Given the description of an element on the screen output the (x, y) to click on. 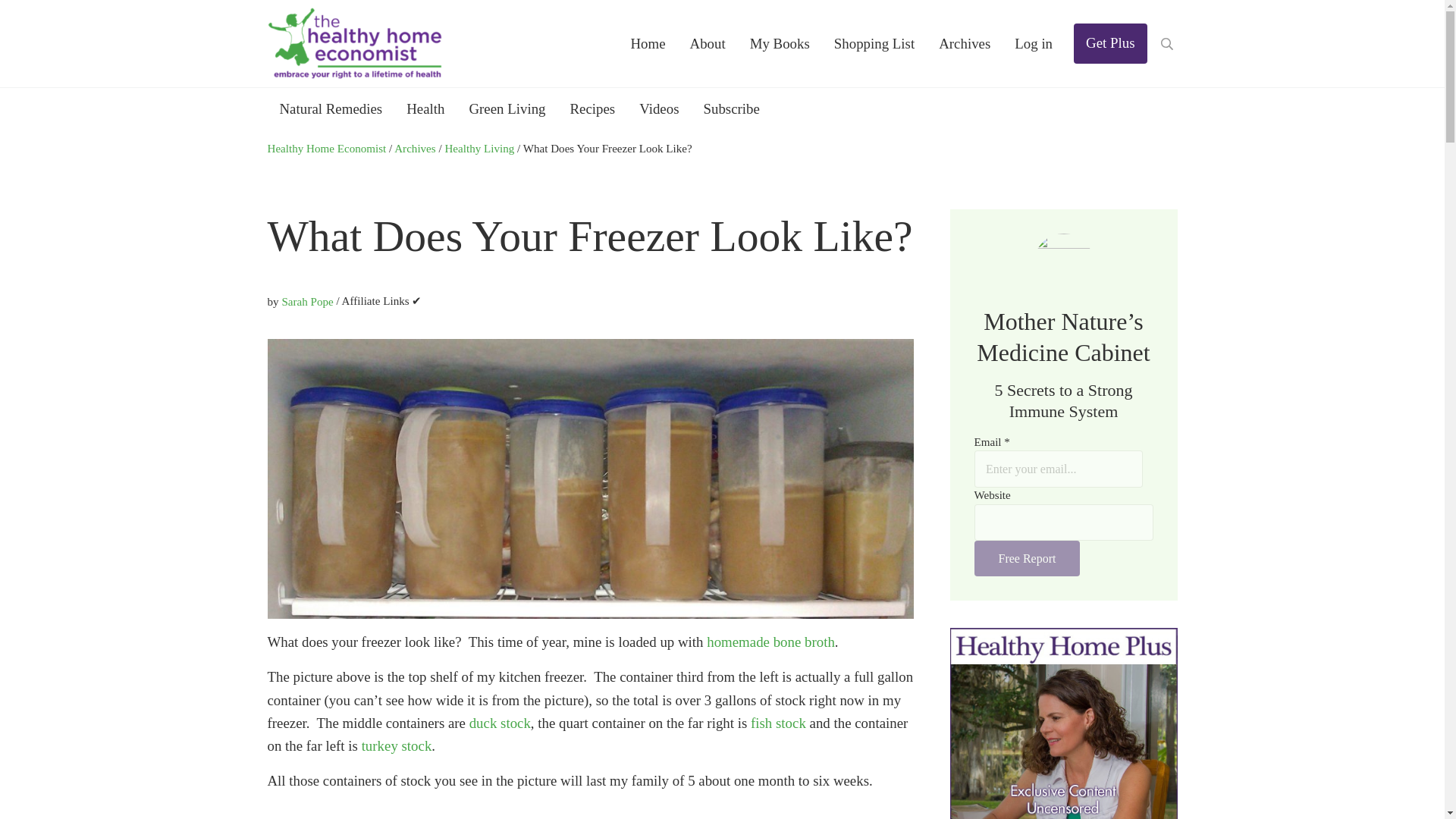
Archives (964, 43)
Green Living (507, 108)
Get Plus (1110, 43)
Natural Remedies (330, 108)
Recipes (592, 108)
Subscribe (731, 108)
Health (425, 108)
Shopping List (874, 43)
